Given the description of an element on the screen output the (x, y) to click on. 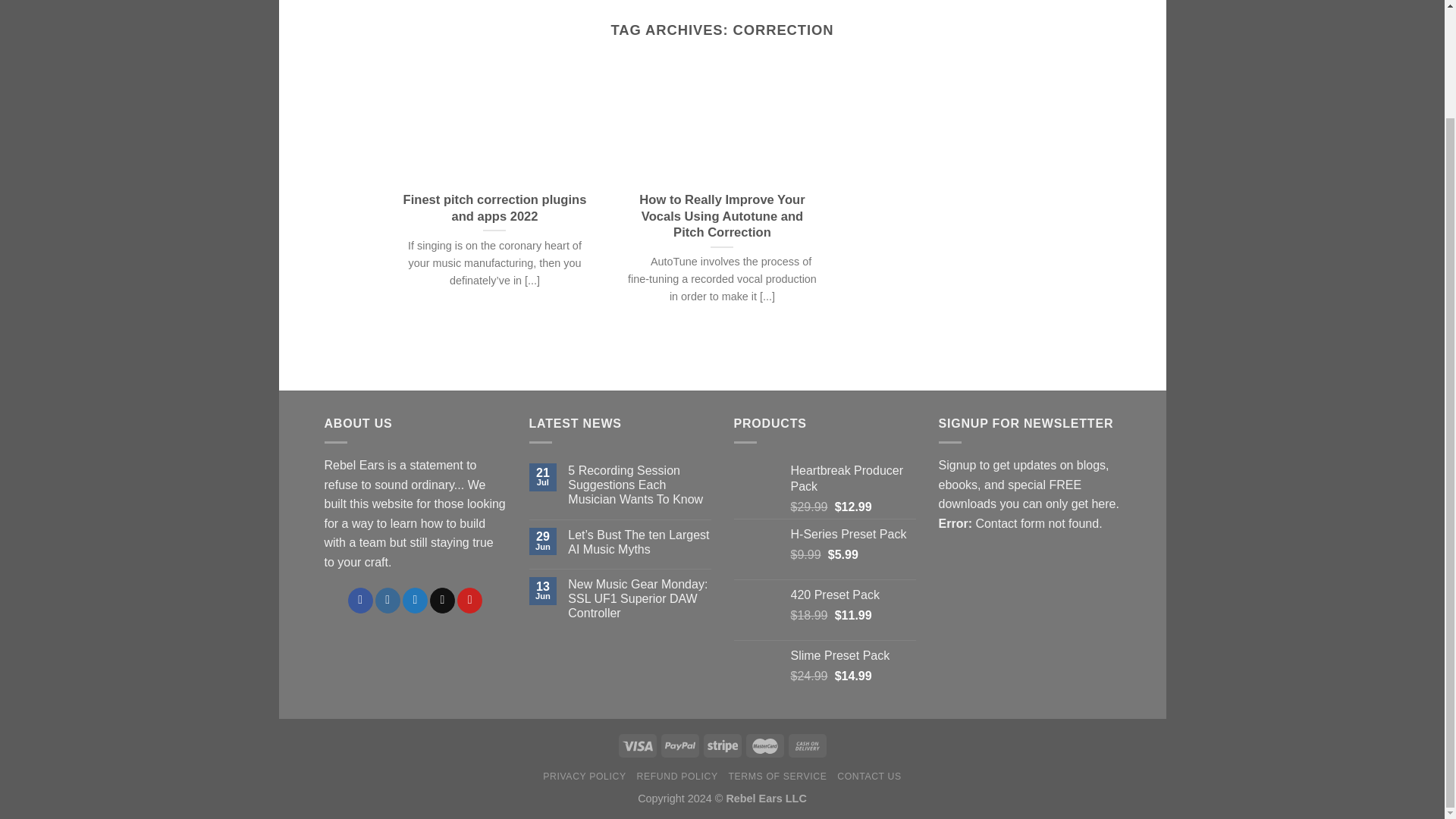
TERMS OF SERVICE (778, 776)
REFUND POLICY (677, 776)
5 Recording Session Suggestions Each Musician Wants To Know (638, 484)
5 Recording Session Suggestions Each Musician Wants To Know (638, 484)
New Music Gear Monday: SSL UF1 Superior DAW Controller (638, 598)
New Music Gear Monday: SSL UF1 Superior DAW Controller (638, 598)
Follow on Pinterest (469, 600)
Follow on Facebook (359, 600)
Send us an email (441, 600)
Follow on Twitter (415, 600)
